Given the description of an element on the screen output the (x, y) to click on. 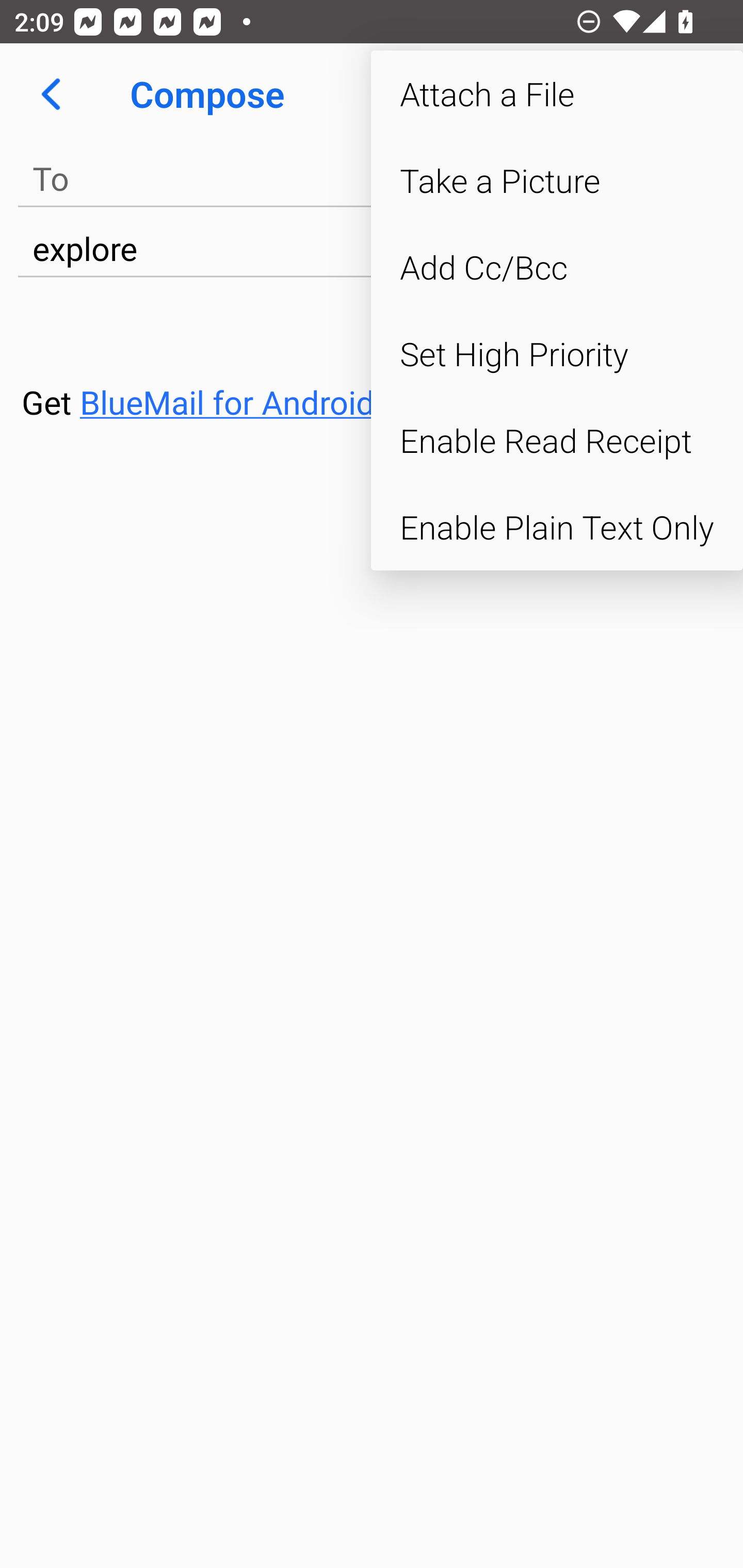
Attach a File (556, 93)
Take a Picture (556, 180)
Add Cc/Bcc (556, 267)
Set High Priority (556, 353)
Enable Read Receipt (556, 440)
Enable Plain Text Only (556, 527)
